Given the description of an element on the screen output the (x, y) to click on. 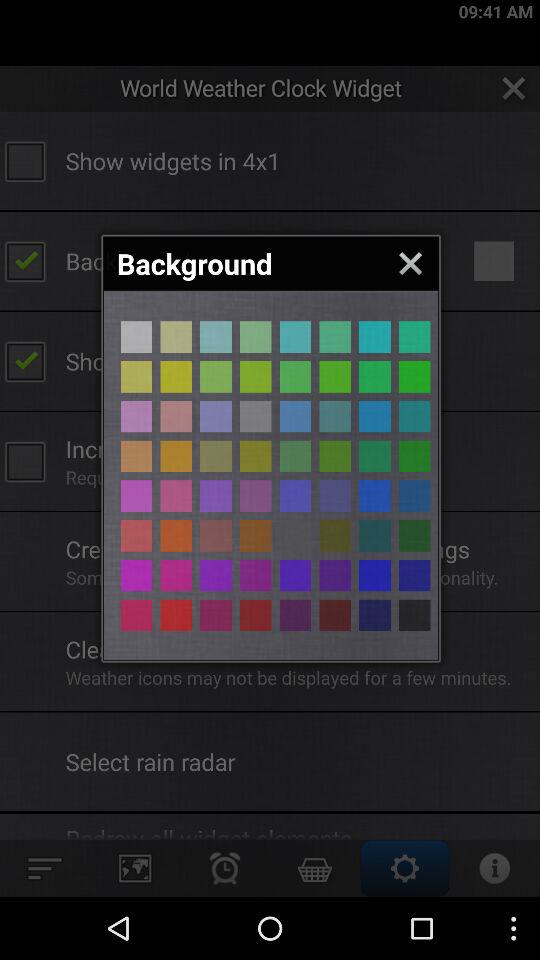
back ground colors putton (176, 456)
